Given the description of an element on the screen output the (x, y) to click on. 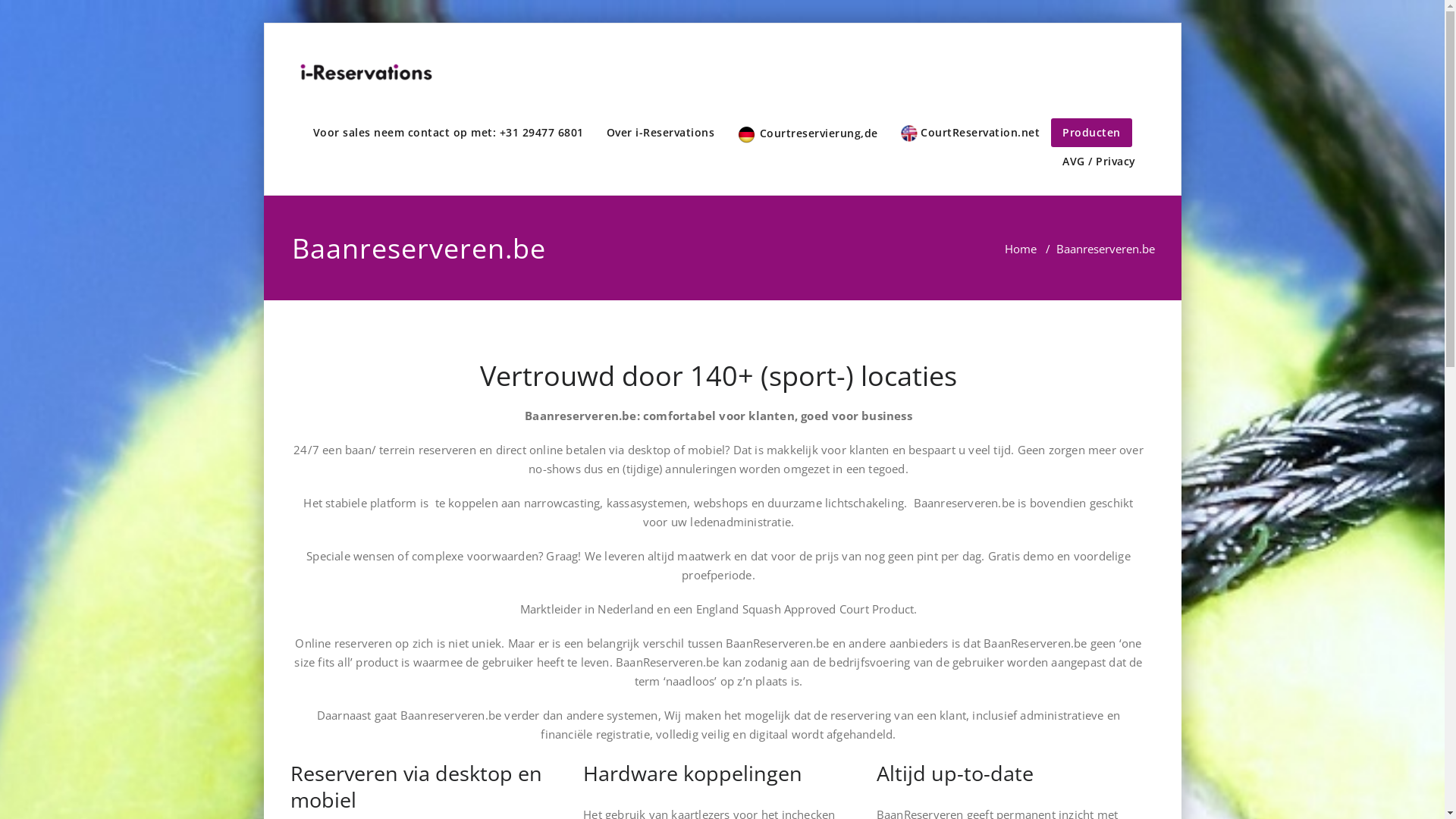
Producten Element type: text (1091, 132)
Over i-Reservations Element type: text (659, 132)
CourtReservation.net Element type: text (969, 133)
AVG / Privacy Element type: text (1099, 161)
Voor sales neem contact op met: +31 29477 6801 Element type: text (448, 132)
Hardware koppelingen Element type: text (692, 773)
Altijd up-to-date Element type: text (954, 773)
Courtreservierung,de Element type: text (807, 134)
Home Element type: text (1019, 248)
Reserveren via desktop en mobiel Element type: text (415, 786)
